Given the description of an element on the screen output the (x, y) to click on. 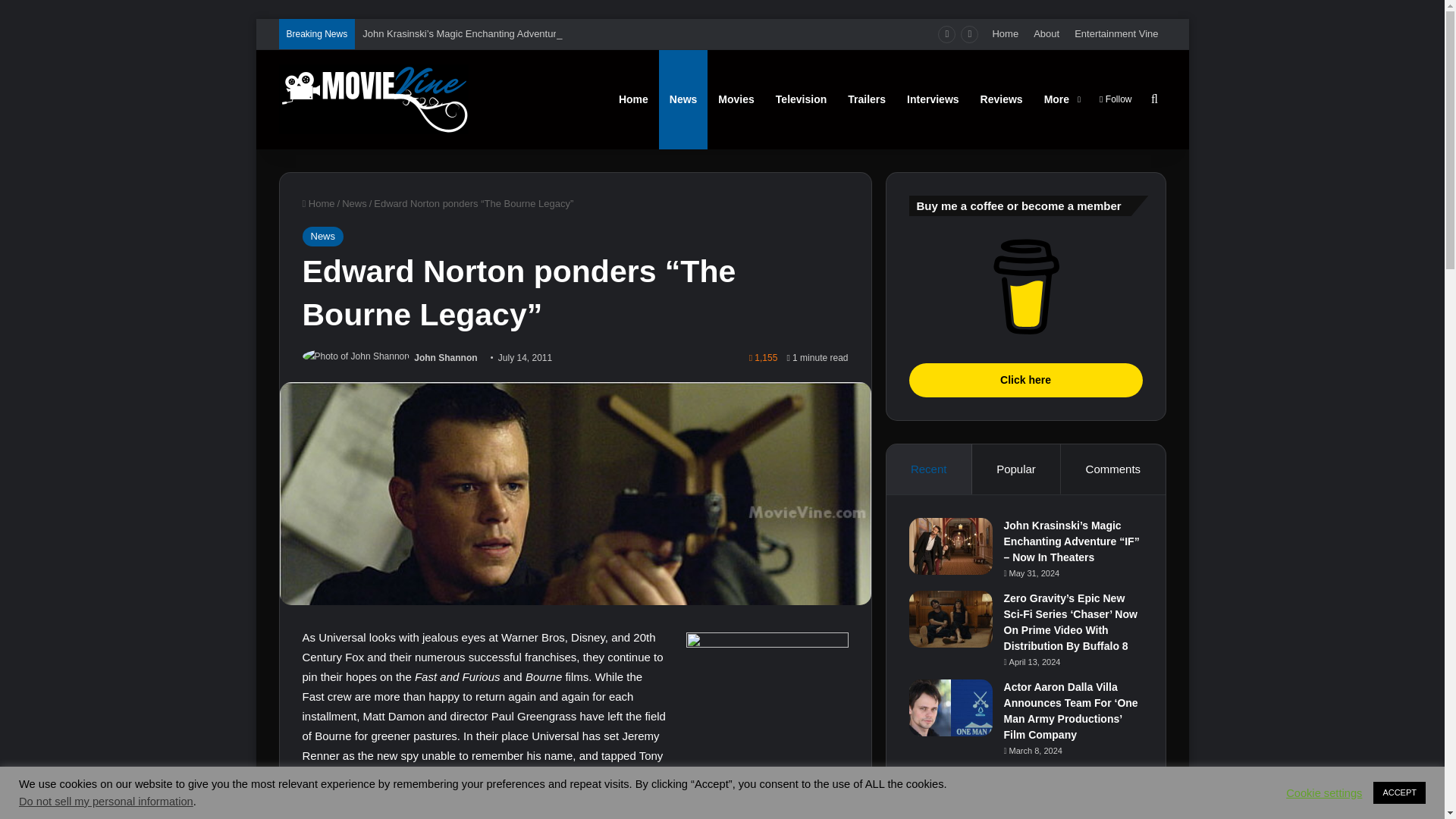
John Shannon (445, 357)
Home (317, 203)
News (354, 203)
Movie Vine (373, 99)
News (322, 236)
Entertainment Vine (1116, 33)
Click here (1025, 287)
Home (1005, 33)
About (1046, 33)
